Given the description of an element on the screen output the (x, y) to click on. 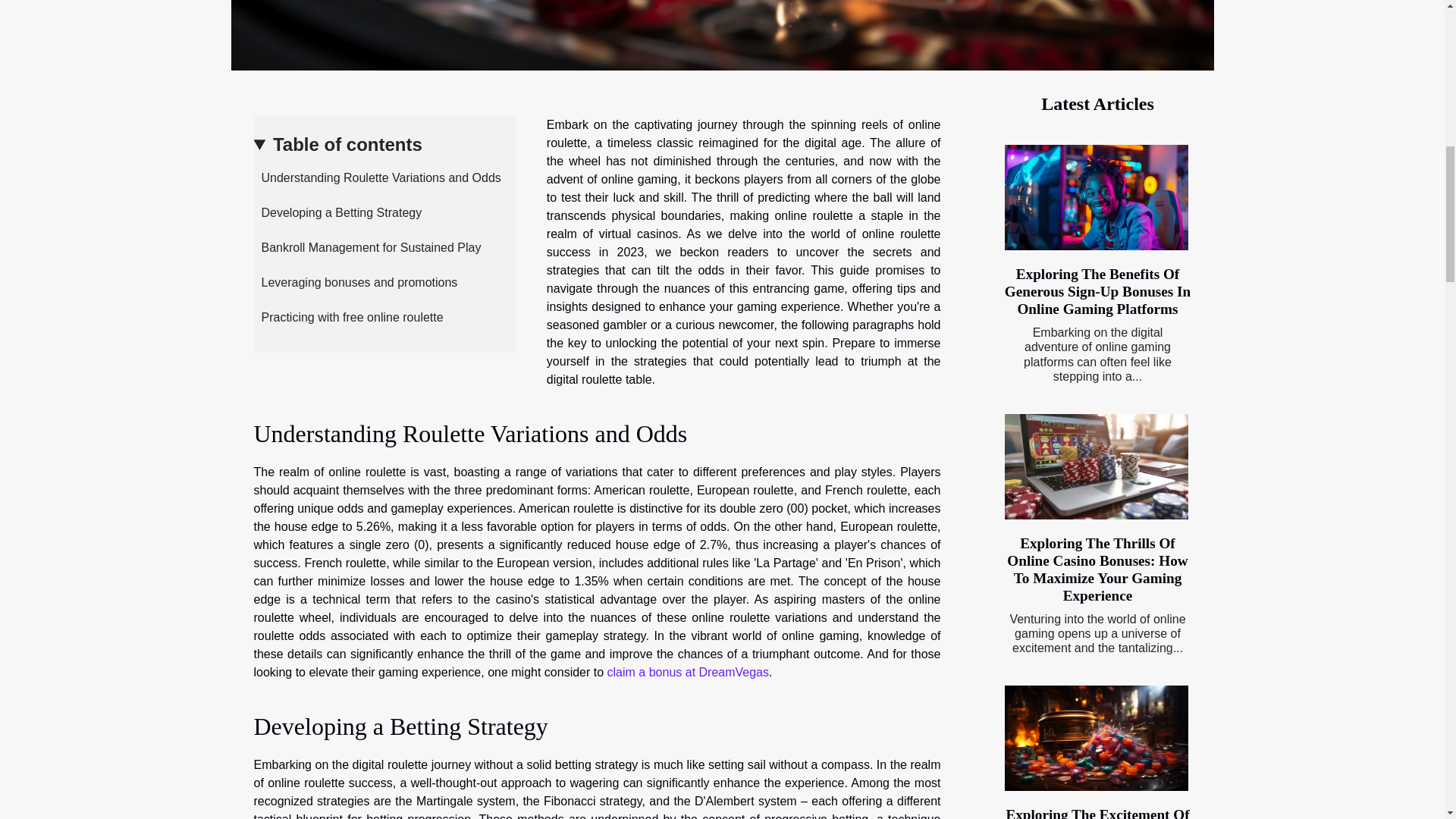
Practicing with free online roulette (347, 317)
Leveraging bonuses and promotions (355, 282)
Developing a Betting Strategy (337, 212)
